Given the description of an element on the screen output the (x, y) to click on. 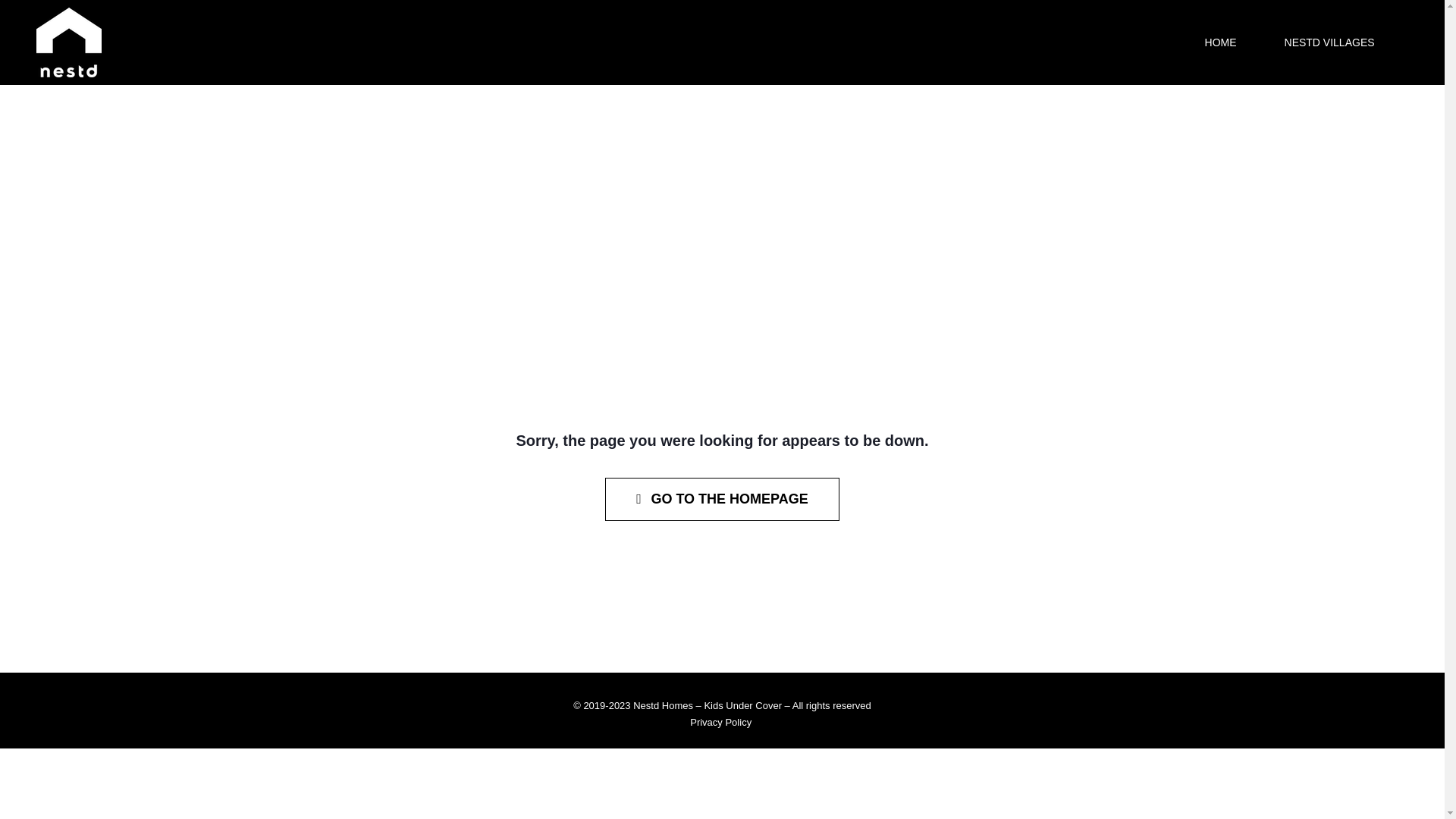
Privacy Policy Element type: text (720, 722)
GO TO THE HOMEPAGE Element type: text (722, 498)
HOME Element type: text (1220, 42)
Kids Under Cover Element type: text (742, 705)
NESTD VILLAGES Element type: text (1329, 42)
404 Not found Element type: hover (722, 298)
